Given the description of an element on the screen output the (x, y) to click on. 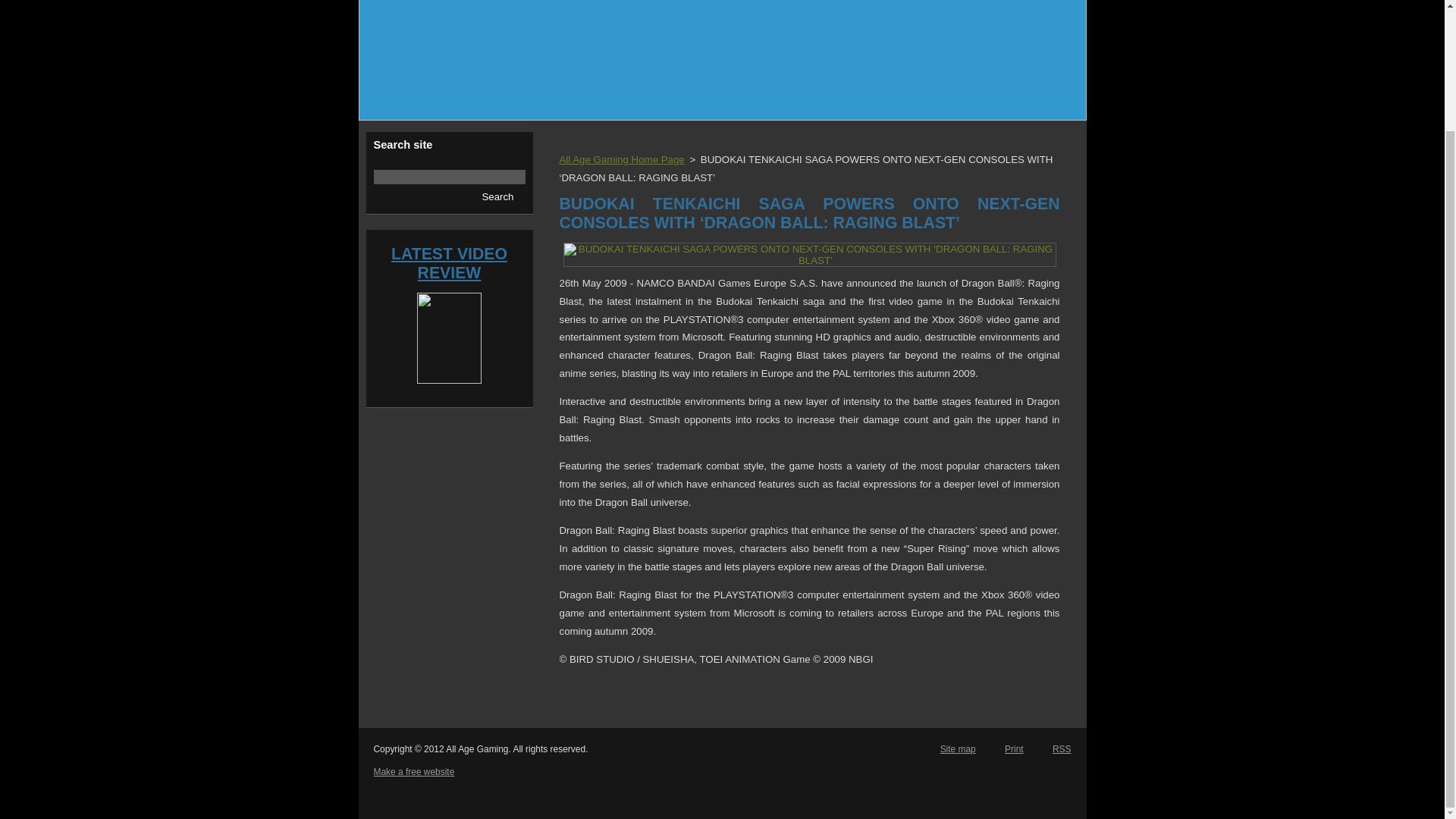
Search (497, 197)
Search (497, 197)
Print (1013, 748)
Site map (957, 748)
Make a free website (413, 771)
All Age Gaming Home Page (621, 159)
RSS Feeds (1061, 748)
Go to site map. (957, 748)
Print page (1013, 748)
RSS (1061, 748)
